Given the description of an element on the screen output the (x, y) to click on. 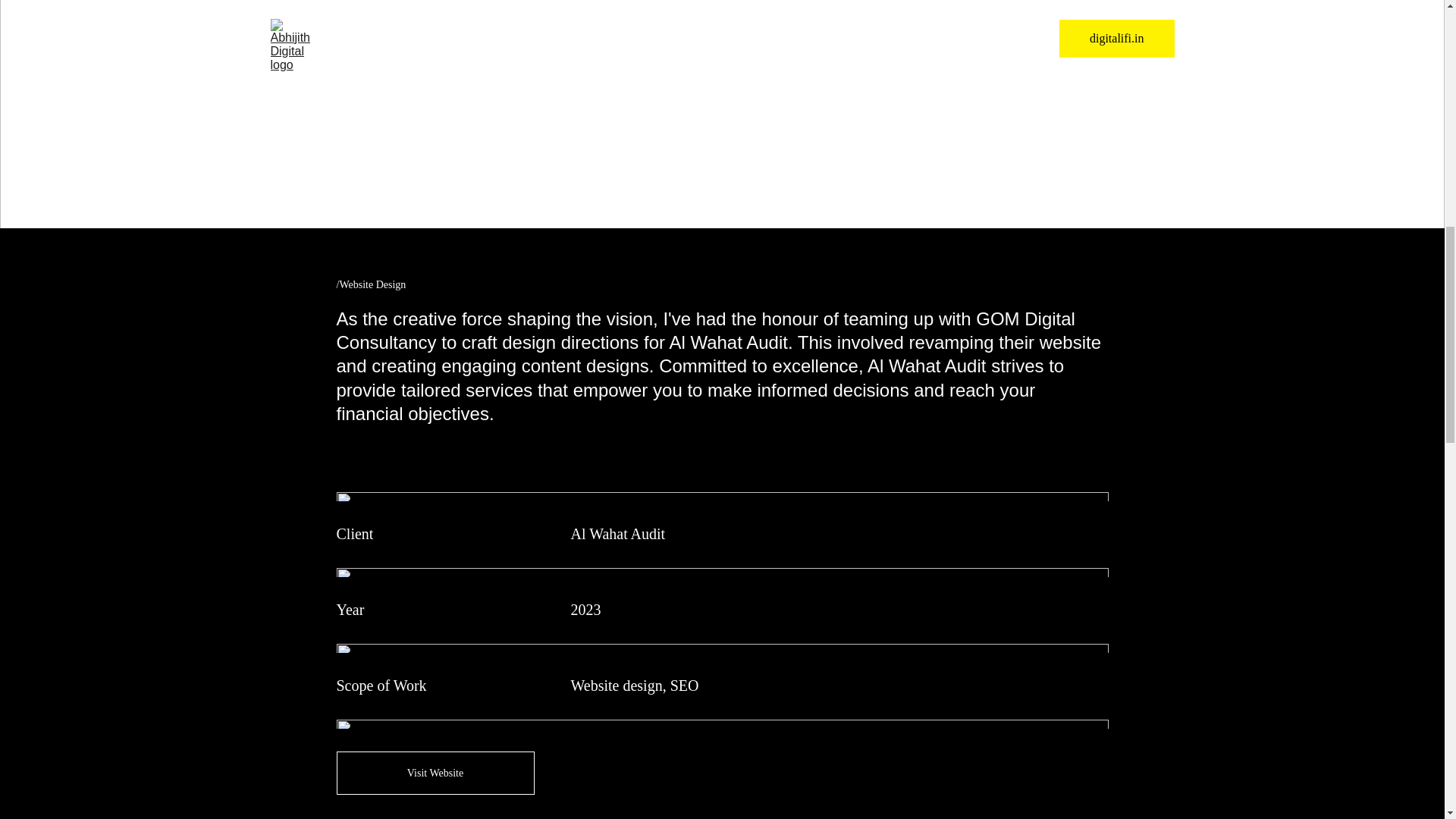
Visit Website (435, 772)
